Given the description of an element on the screen output the (x, y) to click on. 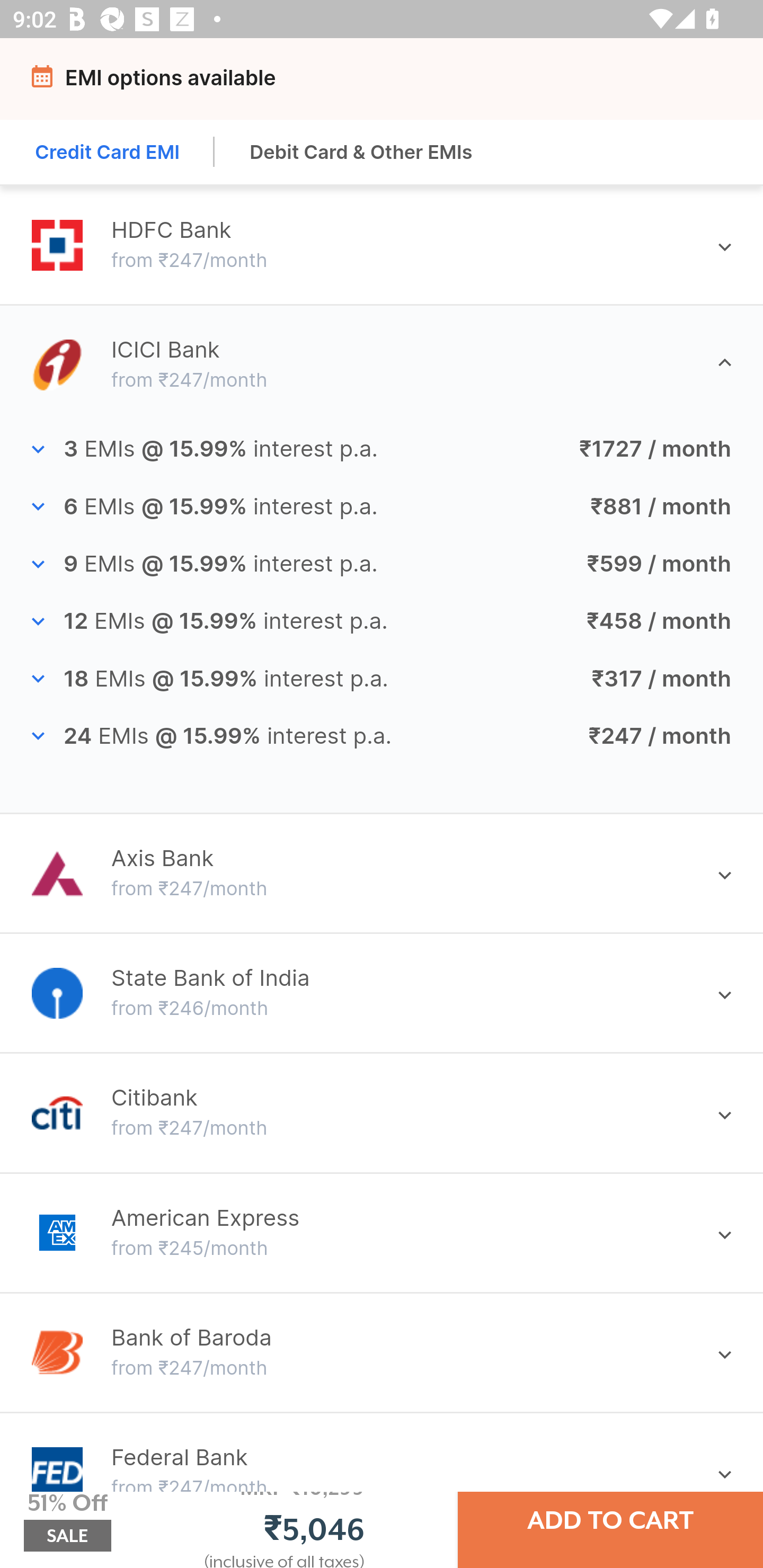
Navigate up (44, 82)
Credit Card EMI (107, 152)
Debit Card & Other EMIs (361, 152)
HDFC Bank HDFC Bank from ₹247/month (381, 244)
ICICI Bank ICICI Bank from ₹247/month (381, 364)
3 EMIs @ 15.99% interest p.a. ₹1727 / month (381, 448)
6 EMIs @ 15.99% interest p.a. ₹881 / month (381, 505)
9 EMIs @ 15.99% interest p.a. ₹599 / month (381, 564)
12 EMIs @ 15.99% interest p.a. ₹458 / month (381, 621)
18 EMIs @ 15.99% interest p.a. ₹317 / month (381, 679)
24 EMIs @ 15.99% interest p.a. ₹247 / month (381, 735)
Axis Bank Axis Bank from ₹247/month (381, 873)
Citibank Citibank from ₹247/month (381, 1113)
American Express American Express from ₹245/month (381, 1232)
Bank of Baroda Bank of Baroda from ₹247/month (381, 1352)
Federal Bank Federal Bank from ₹247/month (381, 1468)
ADD TO CART (610, 1520)
